Given the description of an element on the screen output the (x, y) to click on. 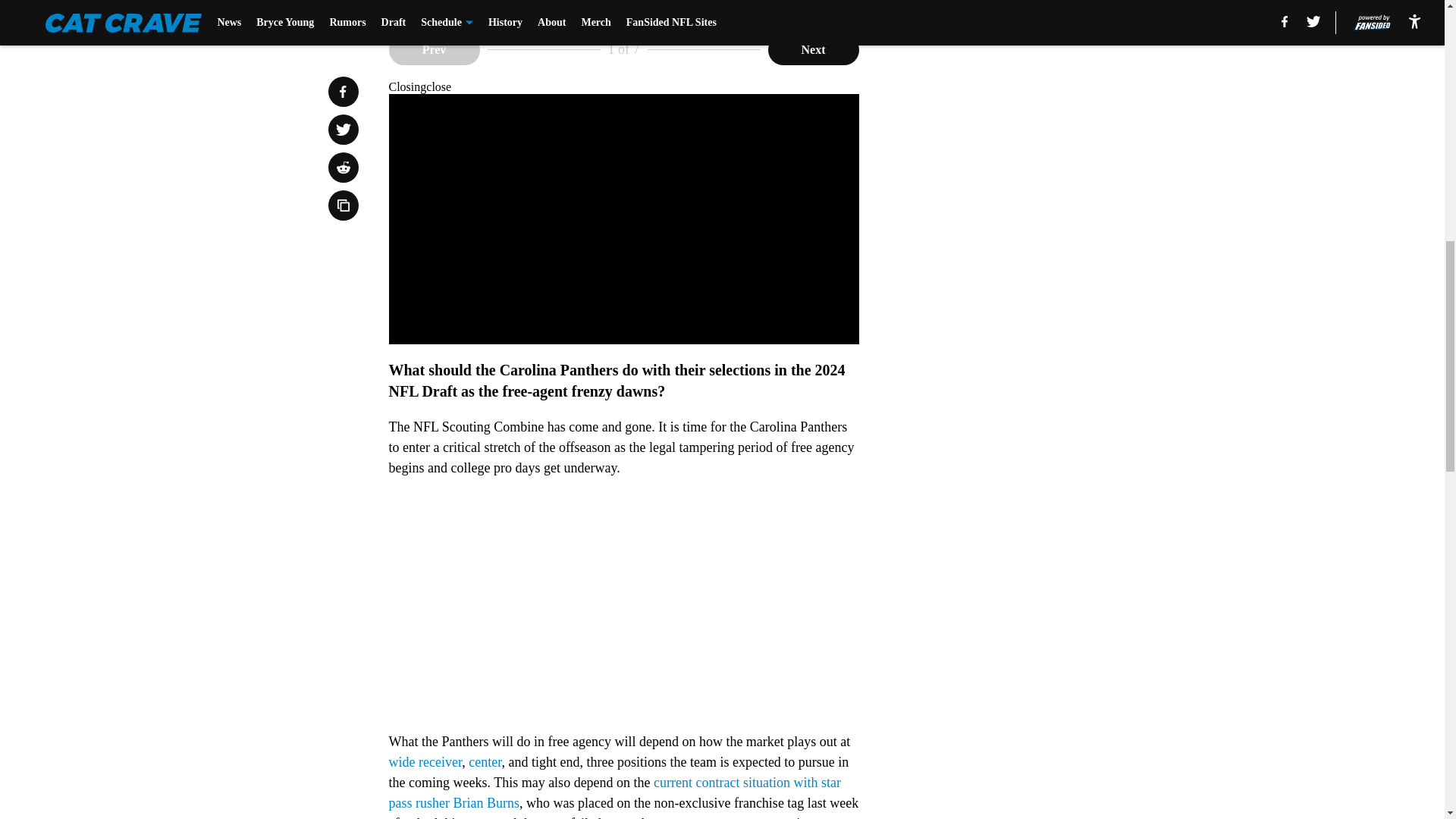
current contract situation with star pass rusher Brian Burns (614, 792)
Prev (433, 50)
Next (813, 50)
center (484, 761)
wide receiver (424, 761)
